Given the description of an element on the screen output the (x, y) to click on. 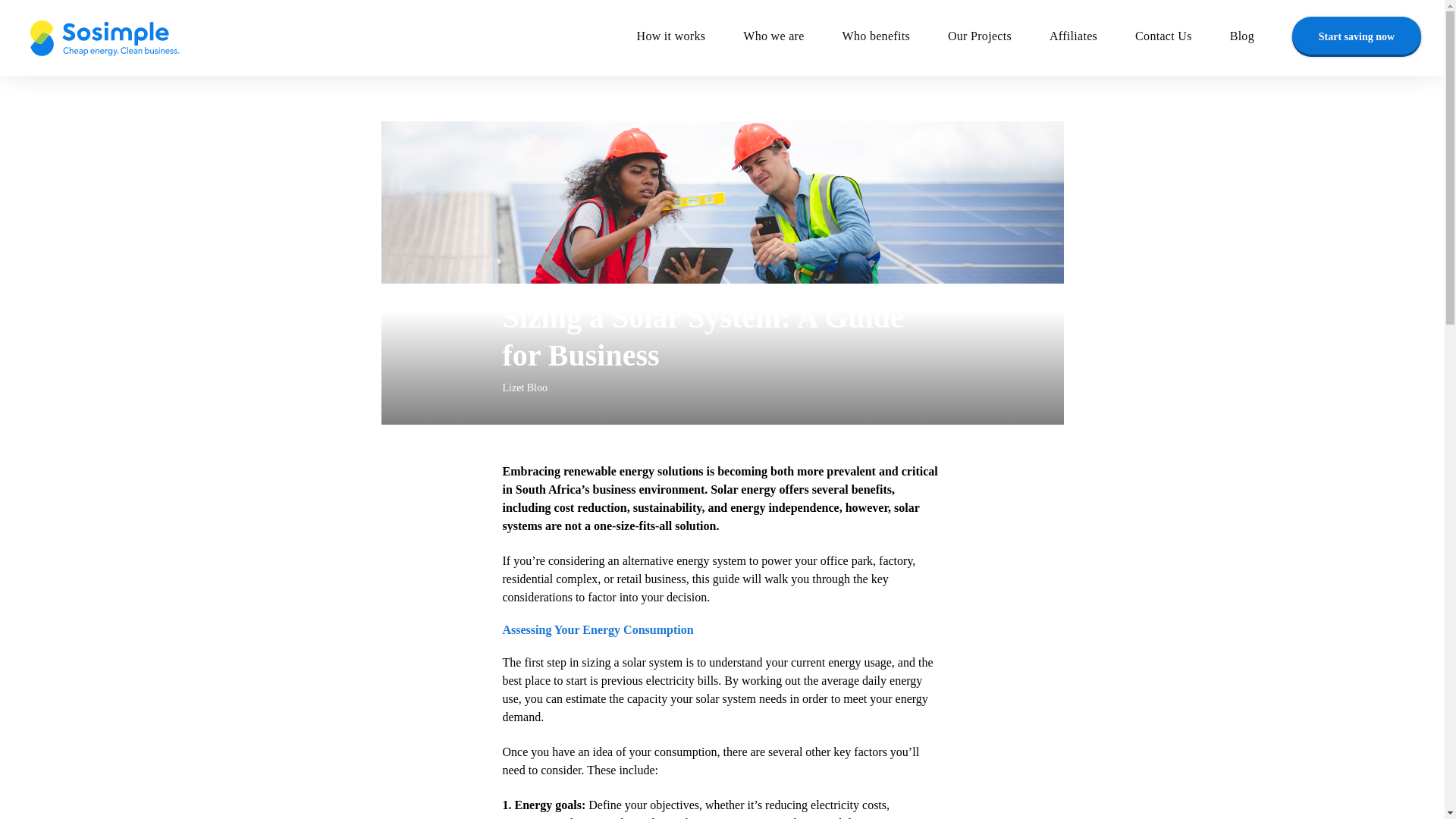
Contact Us (1182, 38)
Our Projects (998, 38)
Affiliates (1092, 38)
Who we are (791, 38)
How it works (690, 38)
Who benefits (895, 38)
